Given the description of an element on the screen output the (x, y) to click on. 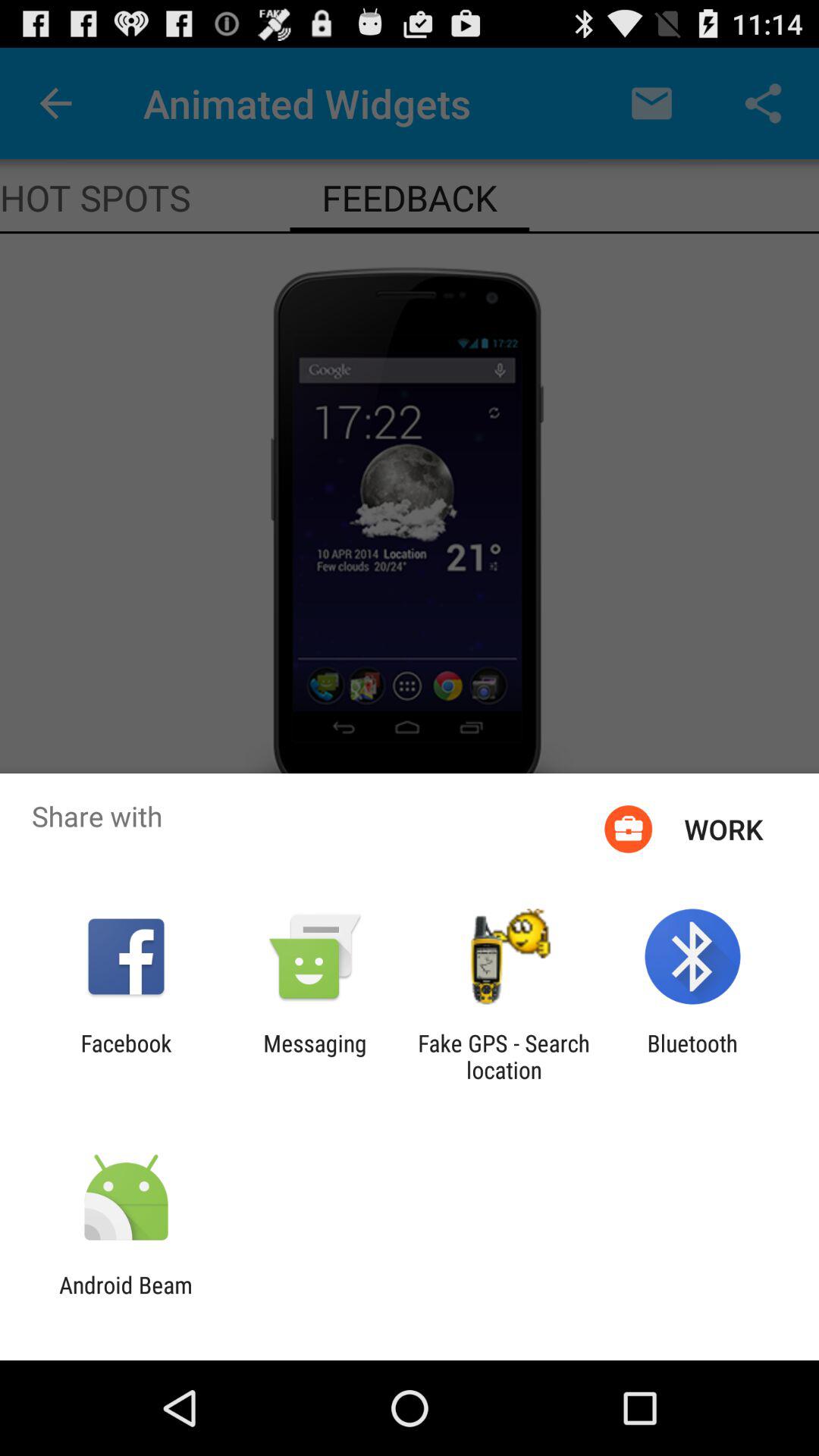
tap the app to the right of facebook icon (314, 1056)
